Given the description of an element on the screen output the (x, y) to click on. 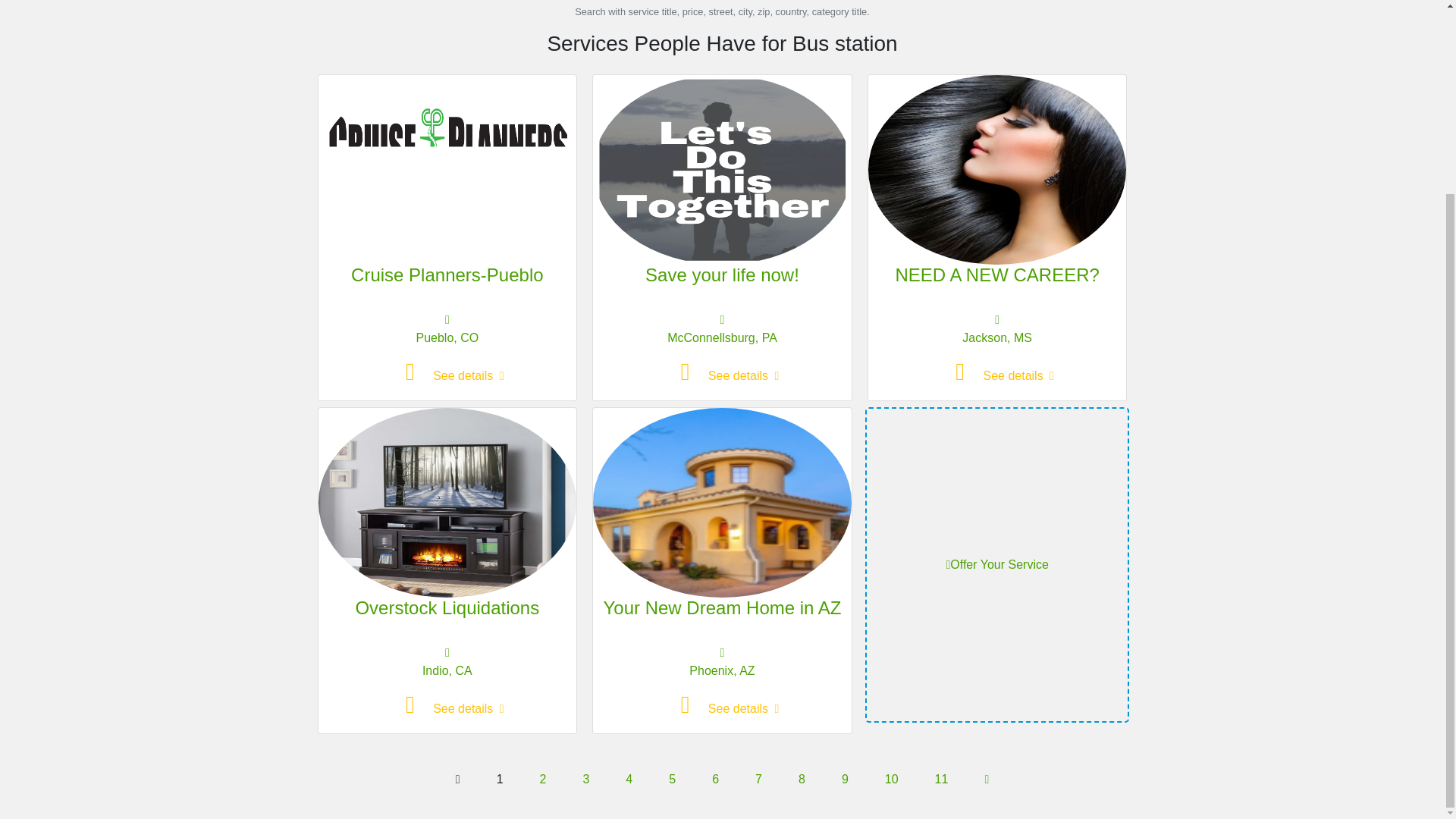
Send message (687, 375)
Send message (411, 375)
Send message (961, 375)
Send message (687, 707)
Send message (411, 707)
